Given the description of an element on the screen output the (x, y) to click on. 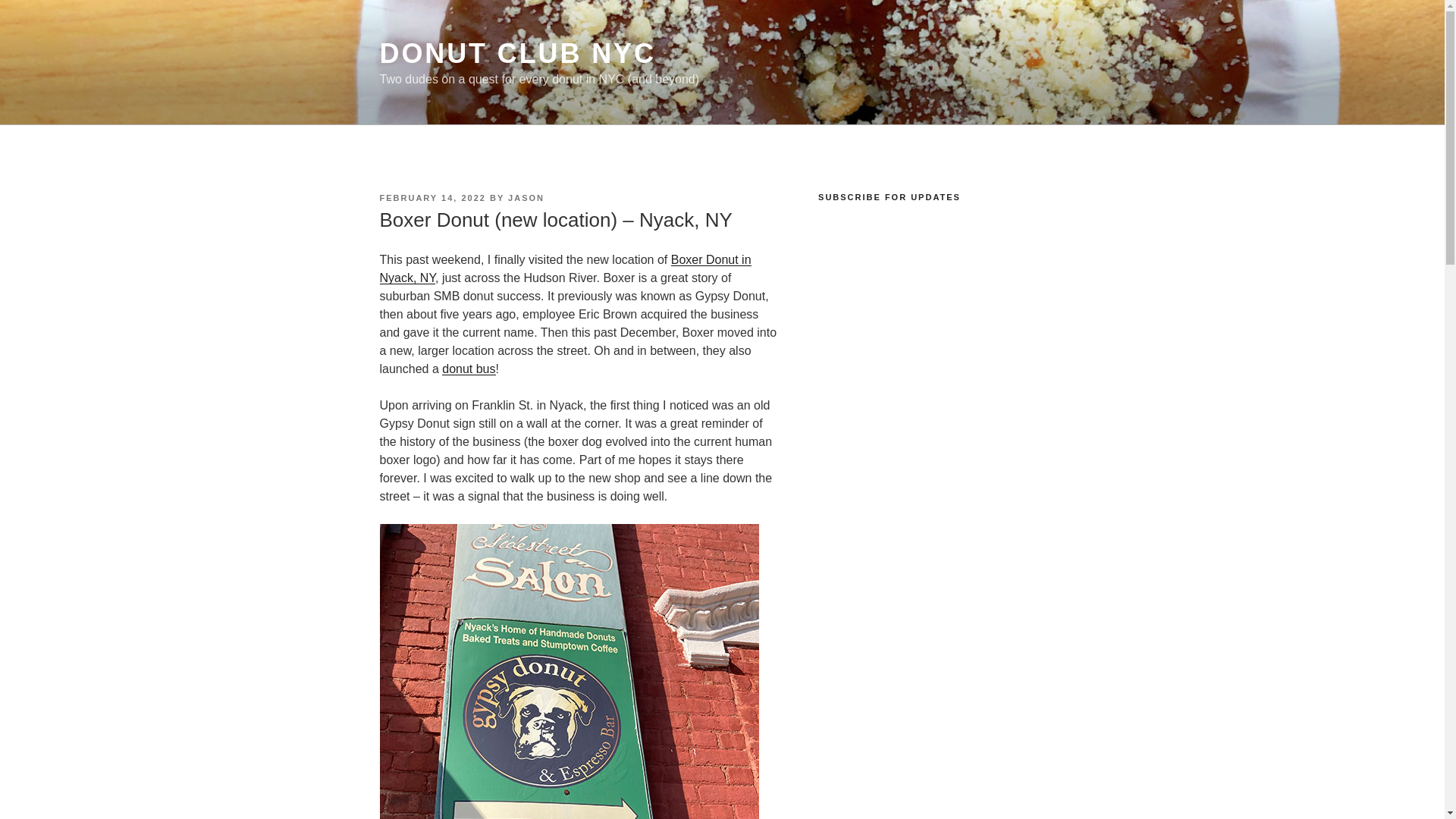
Boxer Donut in Nyack, NY (564, 268)
DONUT CLUB NYC (516, 52)
JASON (526, 197)
donut bus (468, 368)
FEBRUARY 14, 2022 (431, 197)
